Given the description of an element on the screen output the (x, y) to click on. 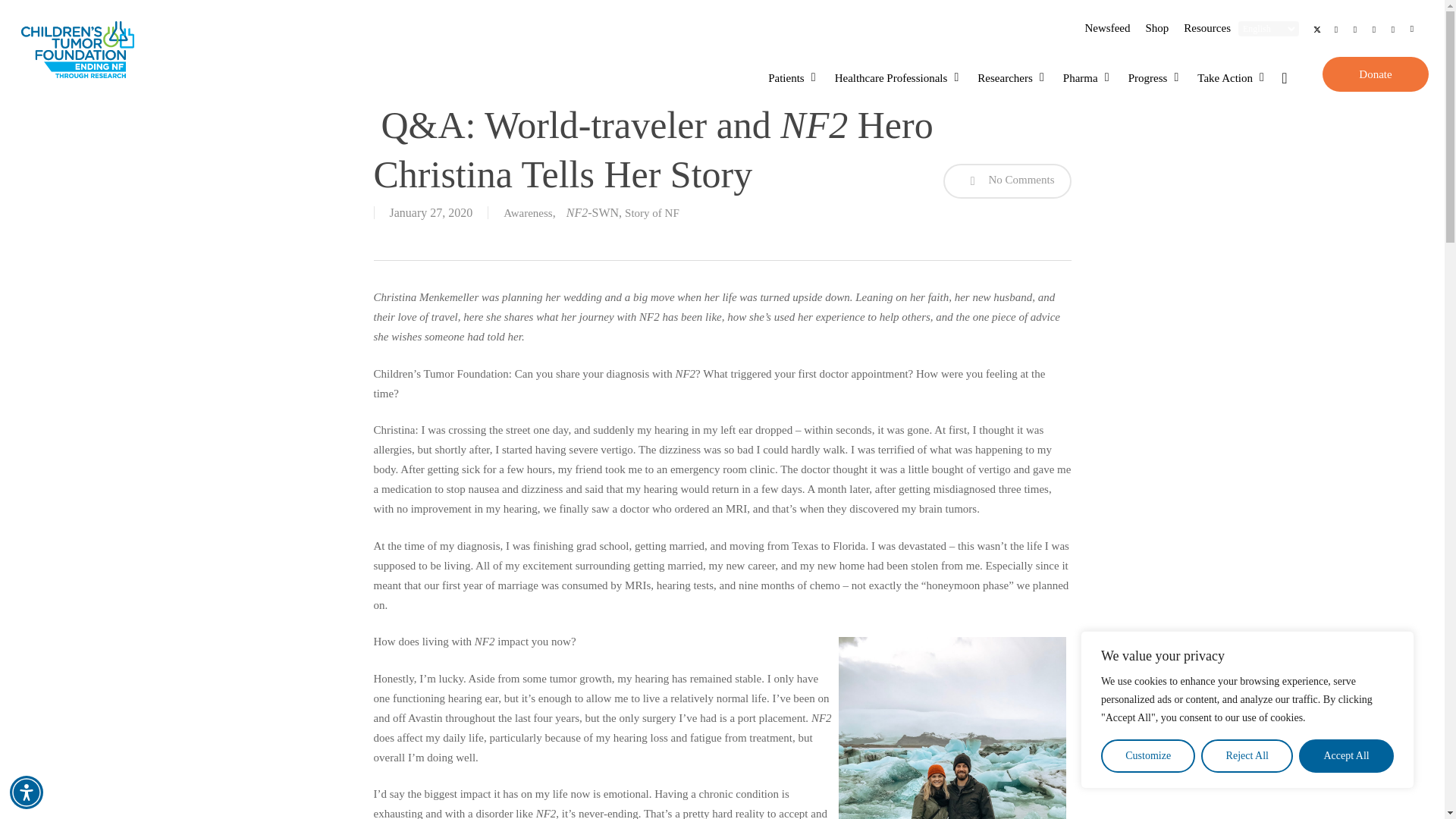
youtube (1374, 28)
Accessibility Menu (26, 792)
linkedin (1355, 28)
Patients (793, 77)
twitter (1316, 28)
Accept All (1345, 756)
instagram (1393, 28)
tiktok (1412, 28)
Reject All (1246, 756)
Newsfeed (1107, 28)
facebook (1335, 28)
Shop (1156, 28)
Resources (1206, 28)
Customize (1147, 756)
